Given the description of an element on the screen output the (x, y) to click on. 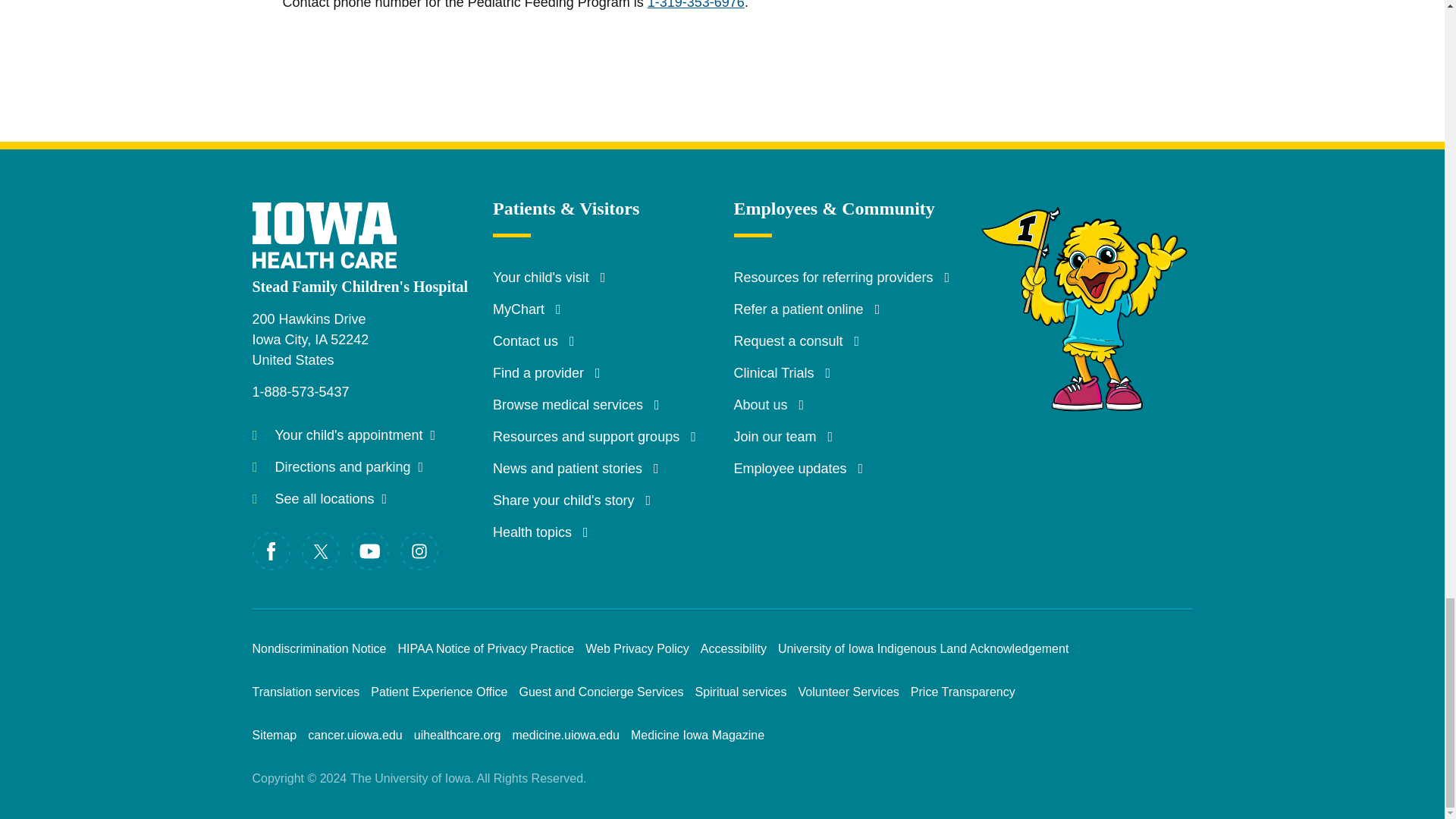
Home (338, 223)
